Given the description of an element on the screen output the (x, y) to click on. 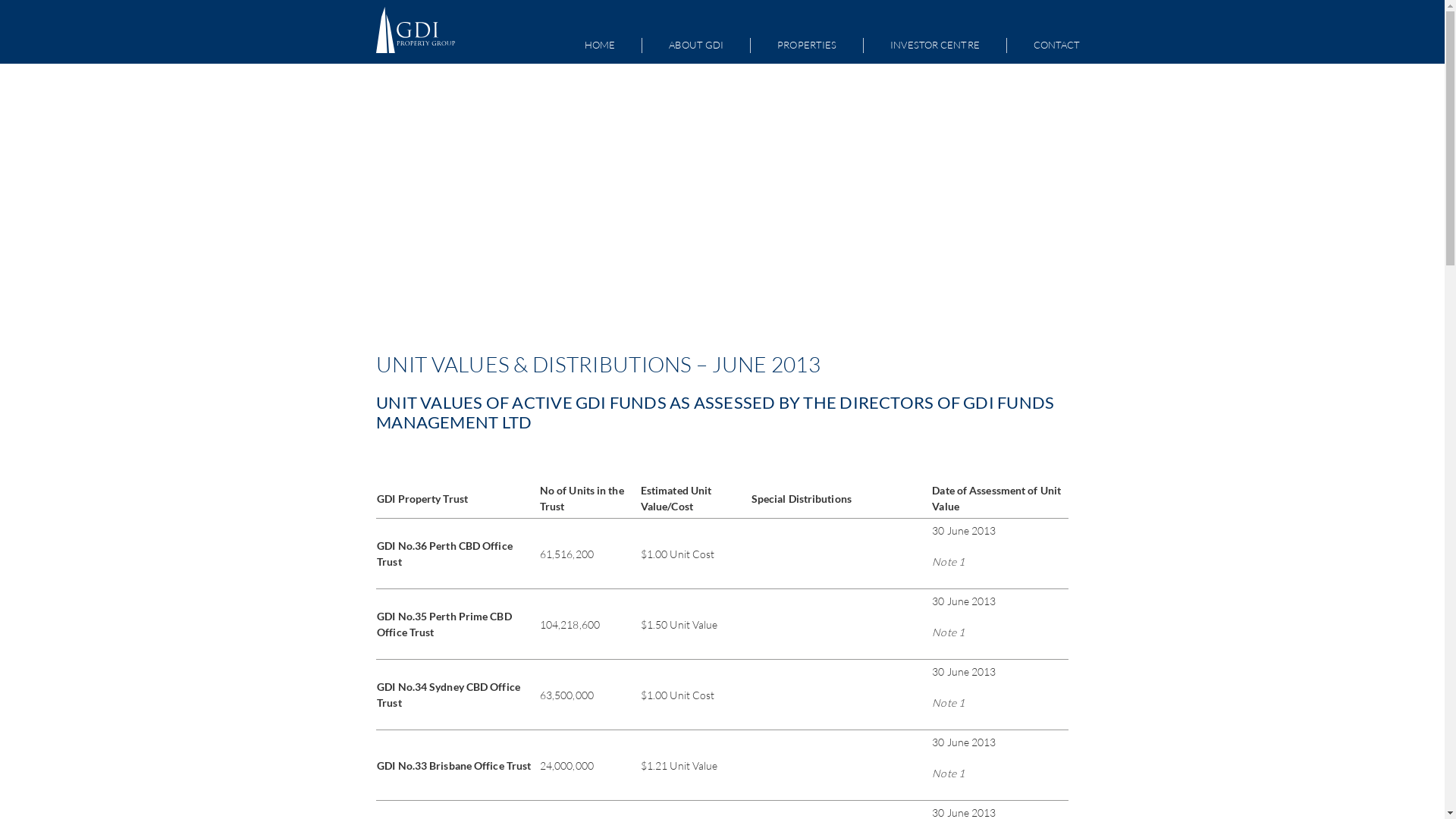
PROPERTIES Element type: text (806, 45)
INVESTOR CENTRE Element type: text (934, 45)
HOME Element type: text (599, 45)
ABOUT GDI Element type: text (695, 45)
CONTACT Element type: text (1056, 45)
